Given the description of an element on the screen output the (x, y) to click on. 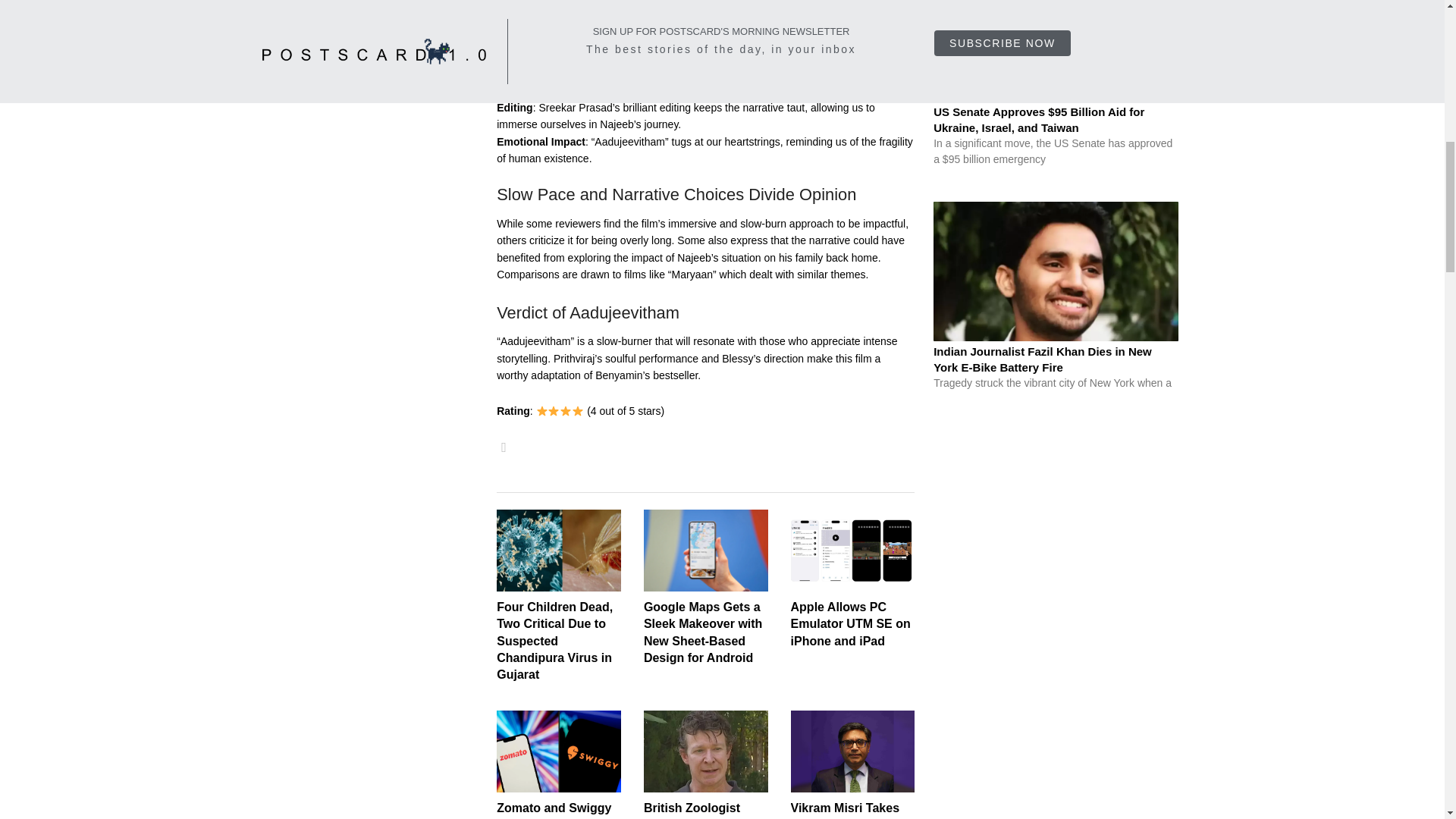
Apple Allows PC Emulator UTM SE on iPhone and iPad (850, 623)
